Given the description of an element on the screen output the (x, y) to click on. 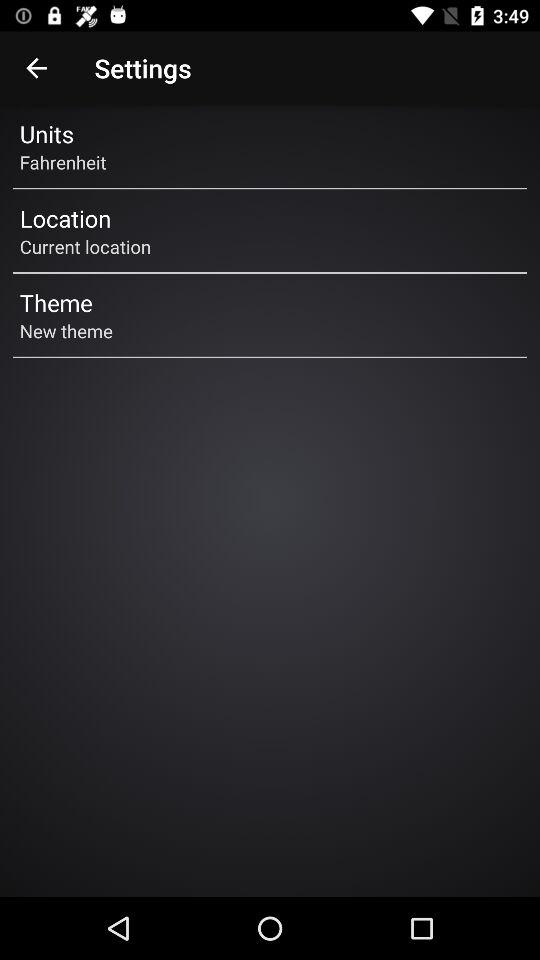
launch the item to the left of the settings icon (36, 68)
